Given the description of an element on the screen output the (x, y) to click on. 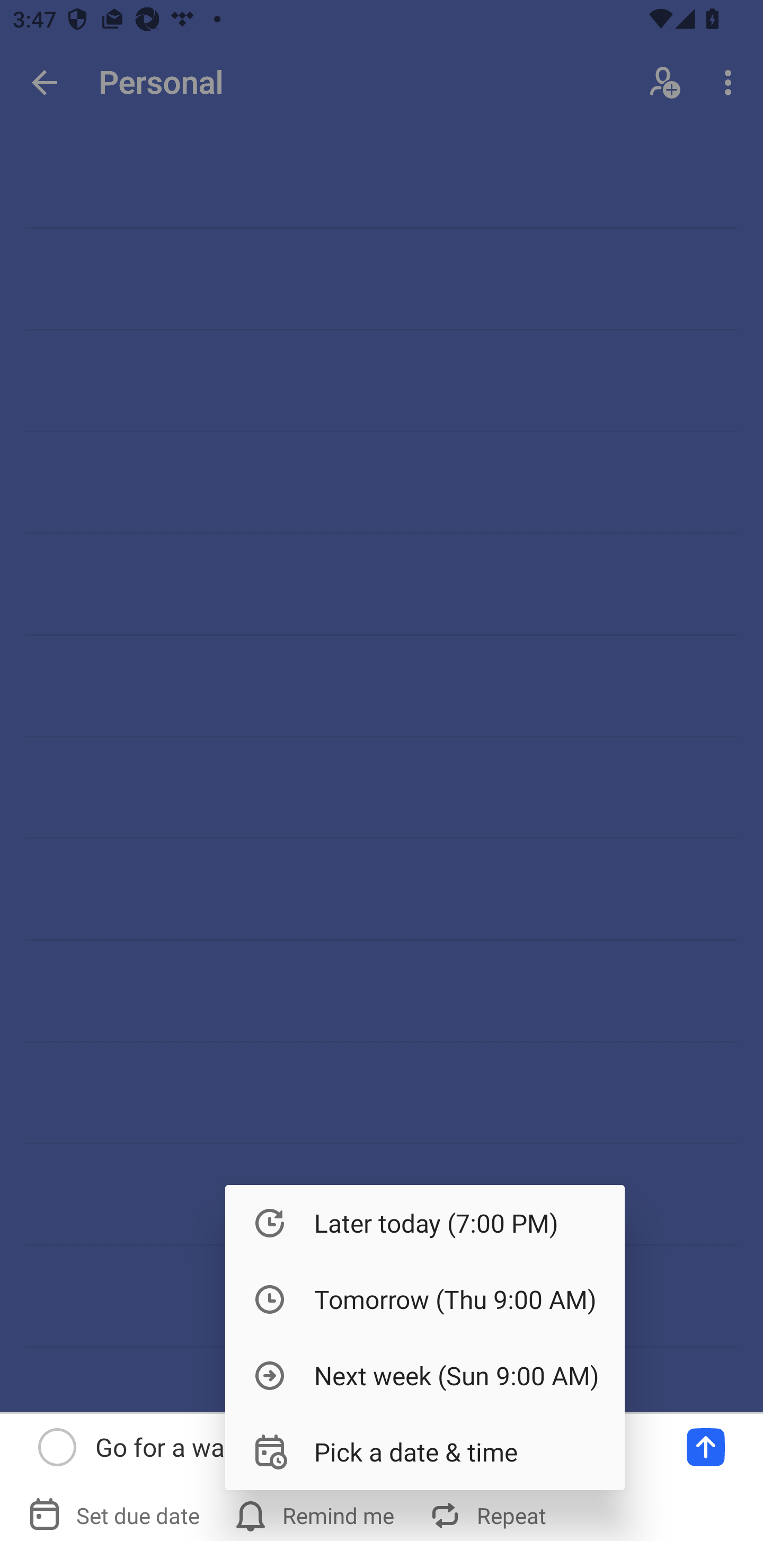
Pick a date & time4 in 4 Pick a date & time (424, 1451)
